Given the description of an element on the screen output the (x, y) to click on. 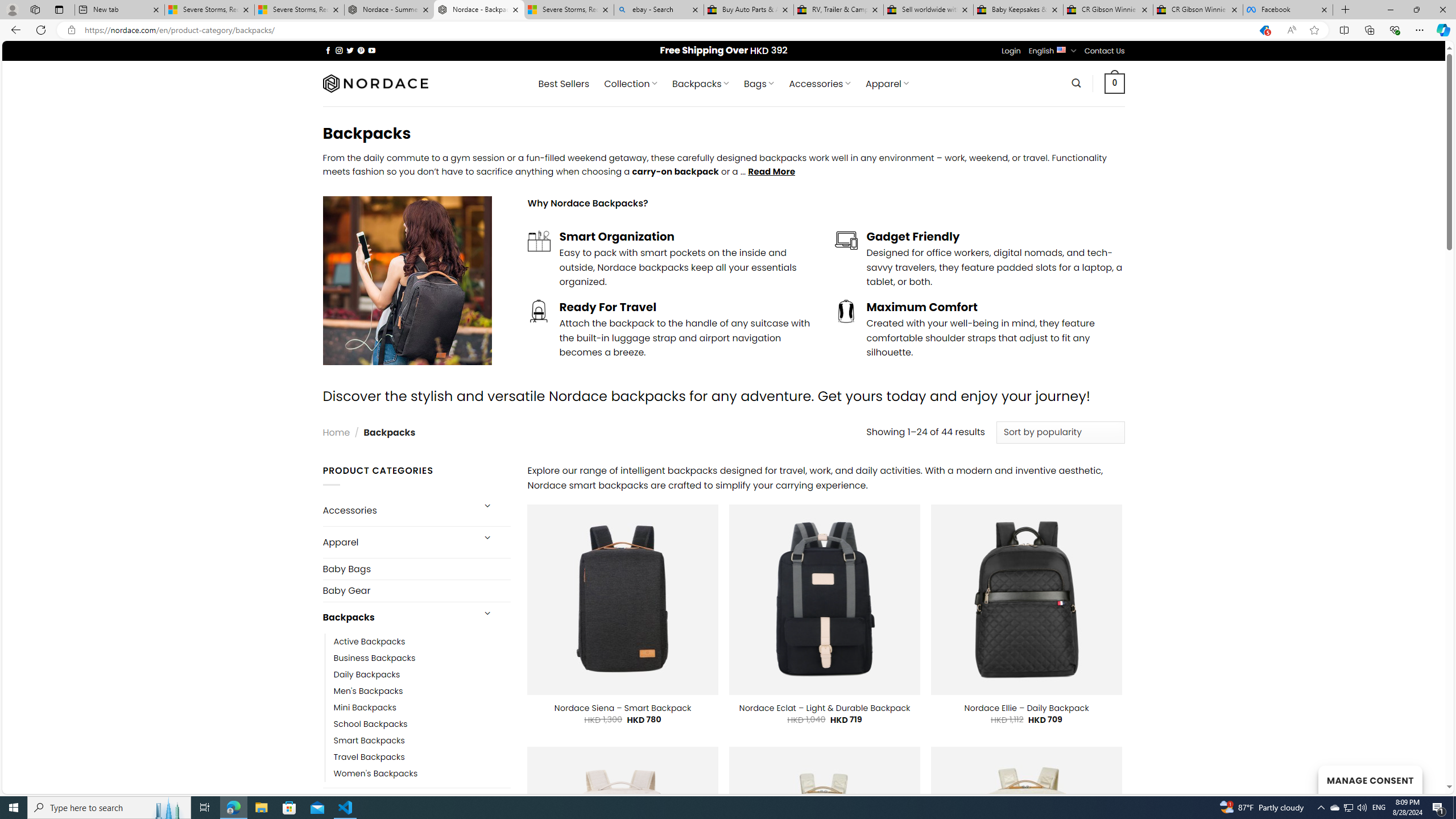
Mini Backpacks (364, 706)
 Best Sellers (563, 83)
